Given the description of an element on the screen output the (x, y) to click on. 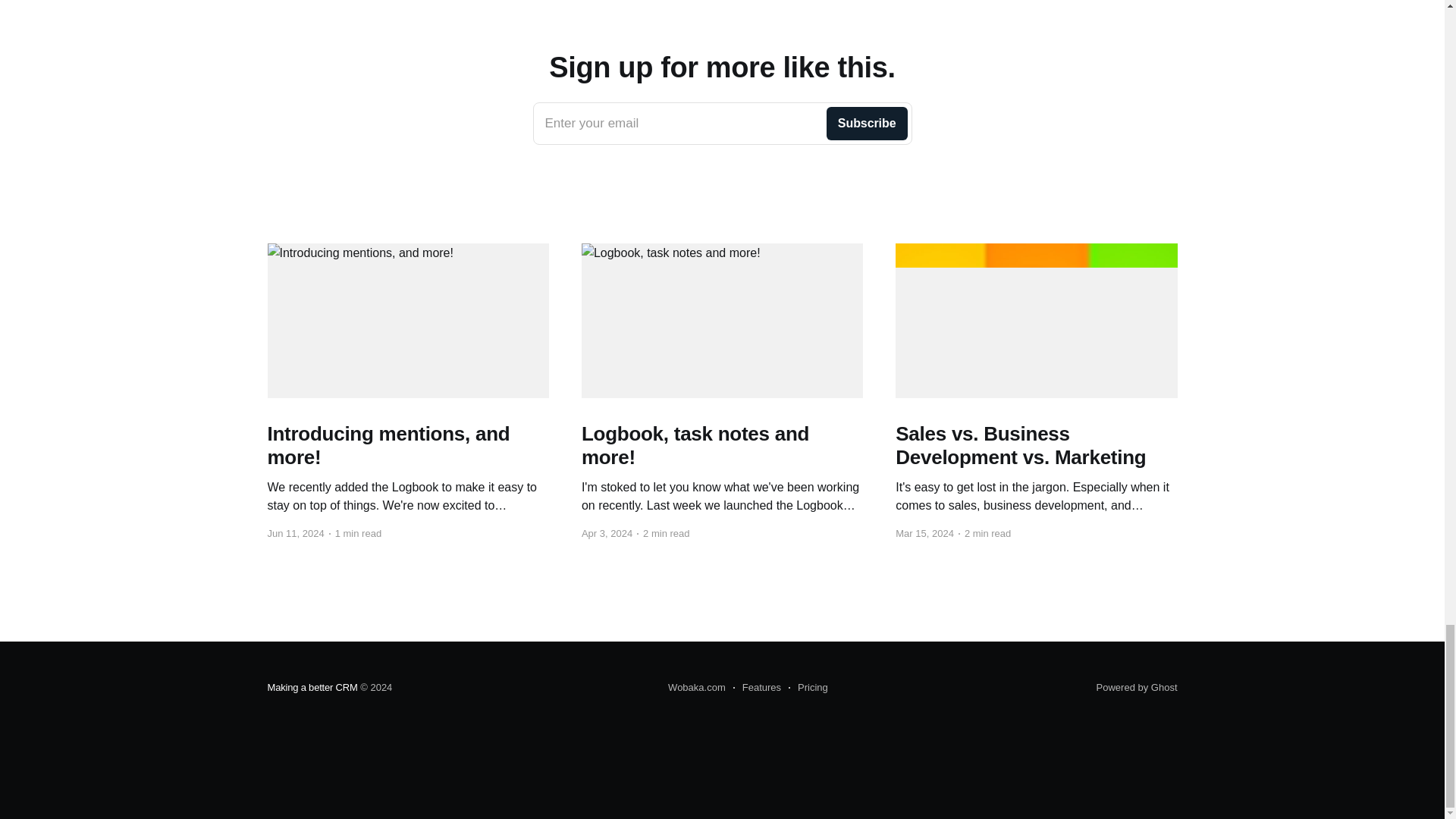
Pricing (721, 123)
Powered by Ghost (808, 687)
Features (1136, 686)
Wobaka.com (756, 687)
Making a better CRM (696, 687)
